Given the description of an element on the screen output the (x, y) to click on. 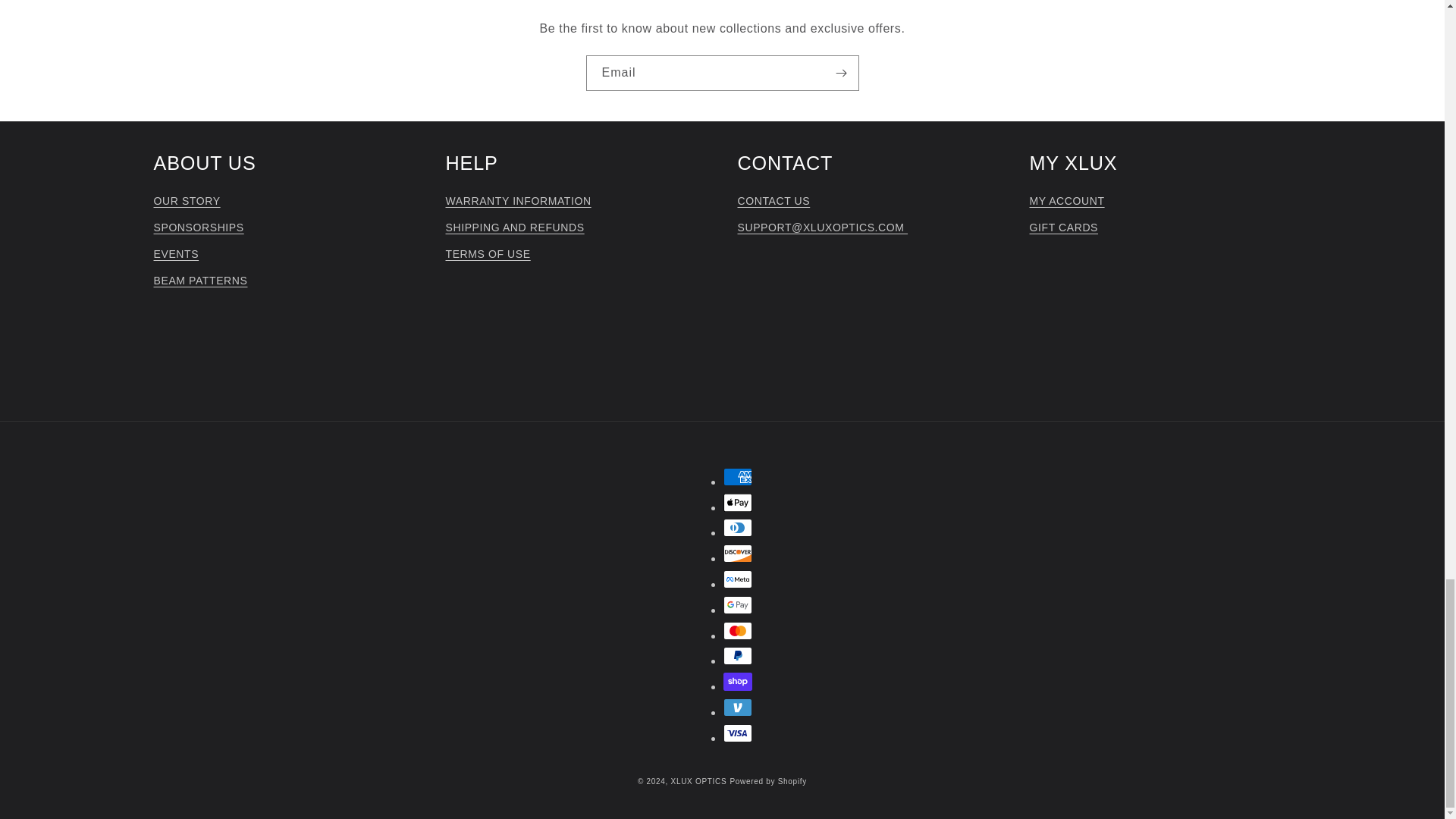
Google Pay (737, 605)
Mastercard (737, 630)
Discover (737, 553)
American Express (737, 476)
Apple Pay (737, 502)
Meta Pay (737, 579)
Diners Club (737, 527)
